Given the description of an element on the screen output the (x, y) to click on. 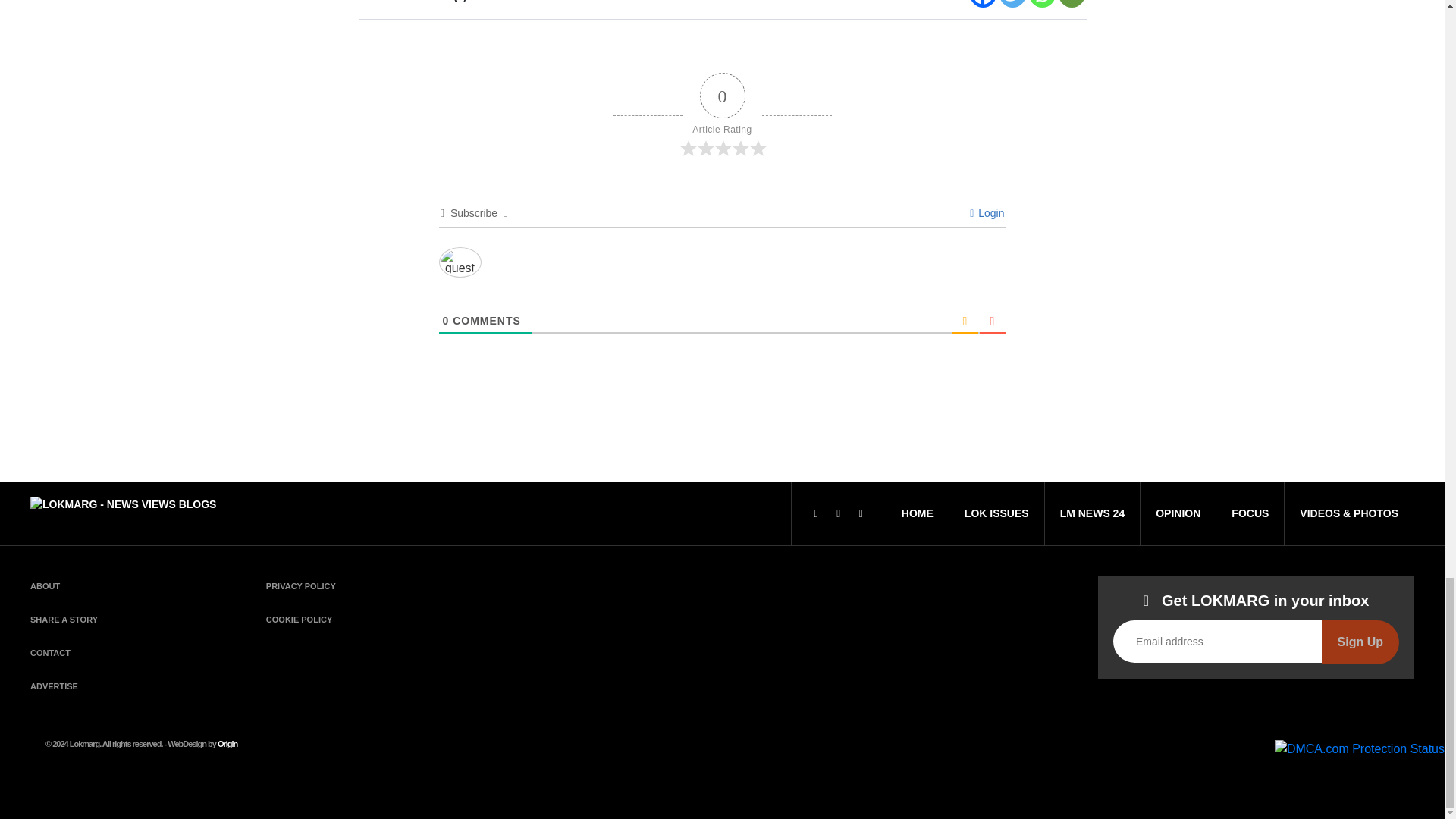
Sign Up (1360, 641)
Login (986, 213)
